Given the description of an element on the screen output the (x, y) to click on. 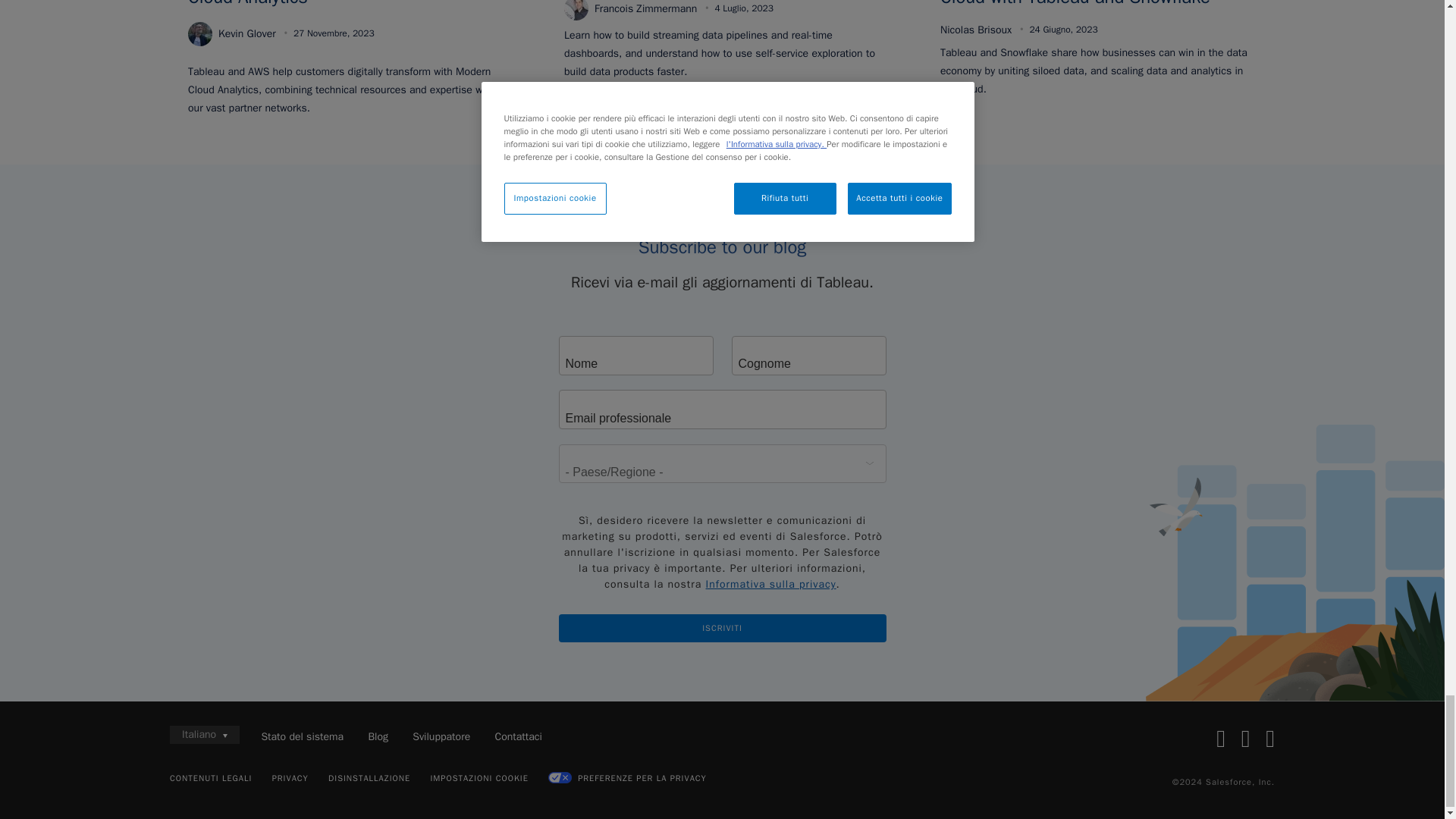
Iscriviti (721, 628)
